Given the description of an element on the screen output the (x, y) to click on. 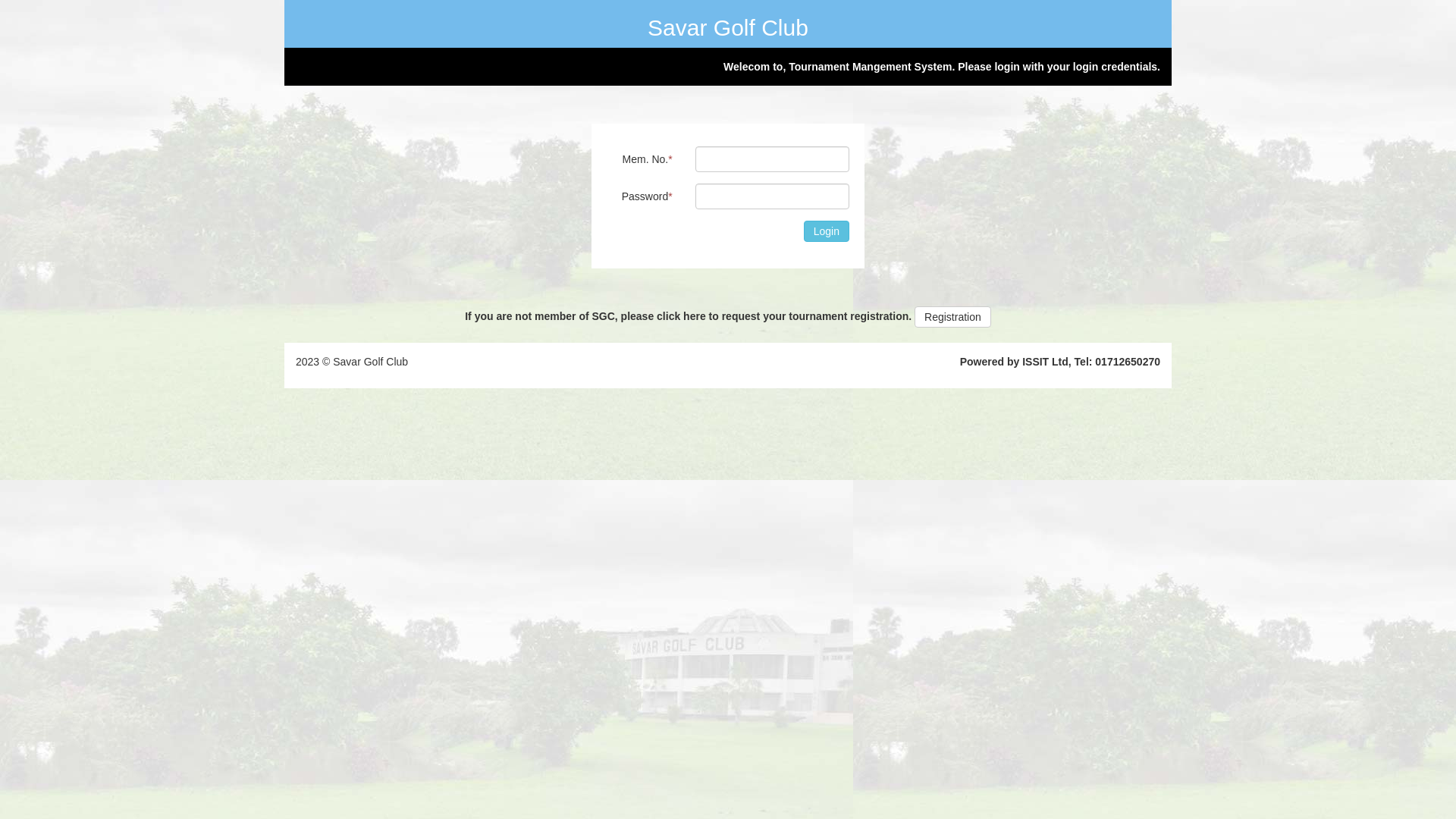
Registration Element type: text (952, 316)
Savar Golf Club Element type: text (727, 27)
Login Element type: text (826, 230)
